Given the description of an element on the screen output the (x, y) to click on. 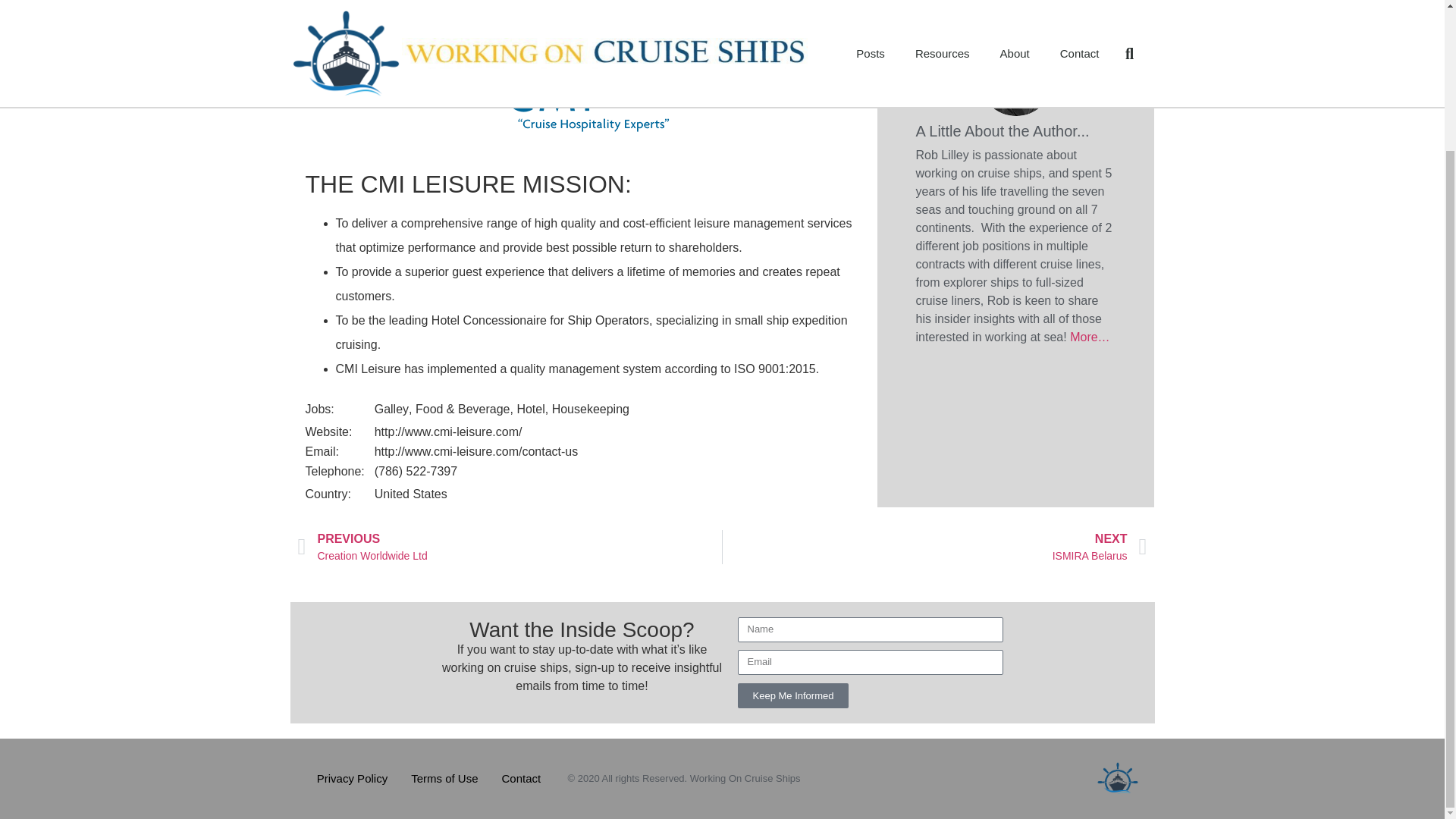
Privacy Policy (509, 546)
Terms of Use (352, 778)
Keep Me Informed (443, 778)
Rob Lilley (792, 695)
Contact (934, 546)
